Given the description of an element on the screen output the (x, y) to click on. 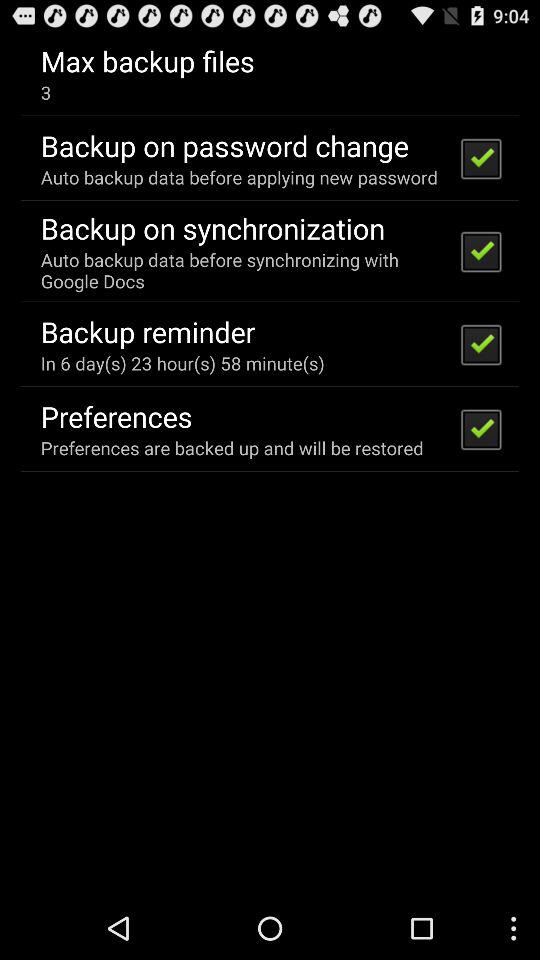
scroll until in 6 day icon (182, 362)
